Given the description of an element on the screen output the (x, y) to click on. 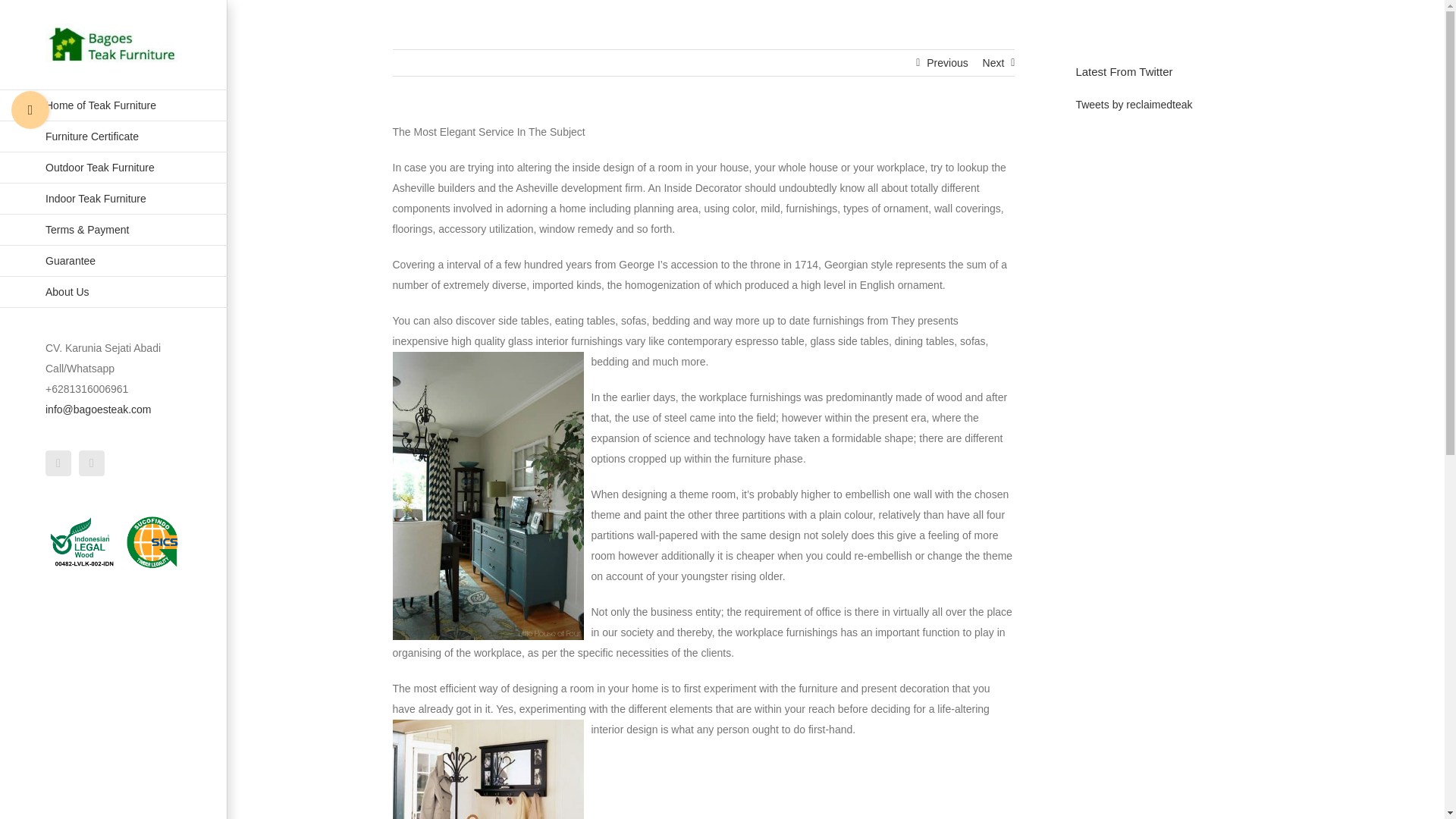
Outdoor Teak Furniture (113, 167)
About Us (113, 291)
Furniture Certificate (113, 136)
Home of Teak Furniture (113, 105)
Indoor Teak Furniture (113, 198)
Guarantee (113, 260)
